Given the description of an element on the screen output the (x, y) to click on. 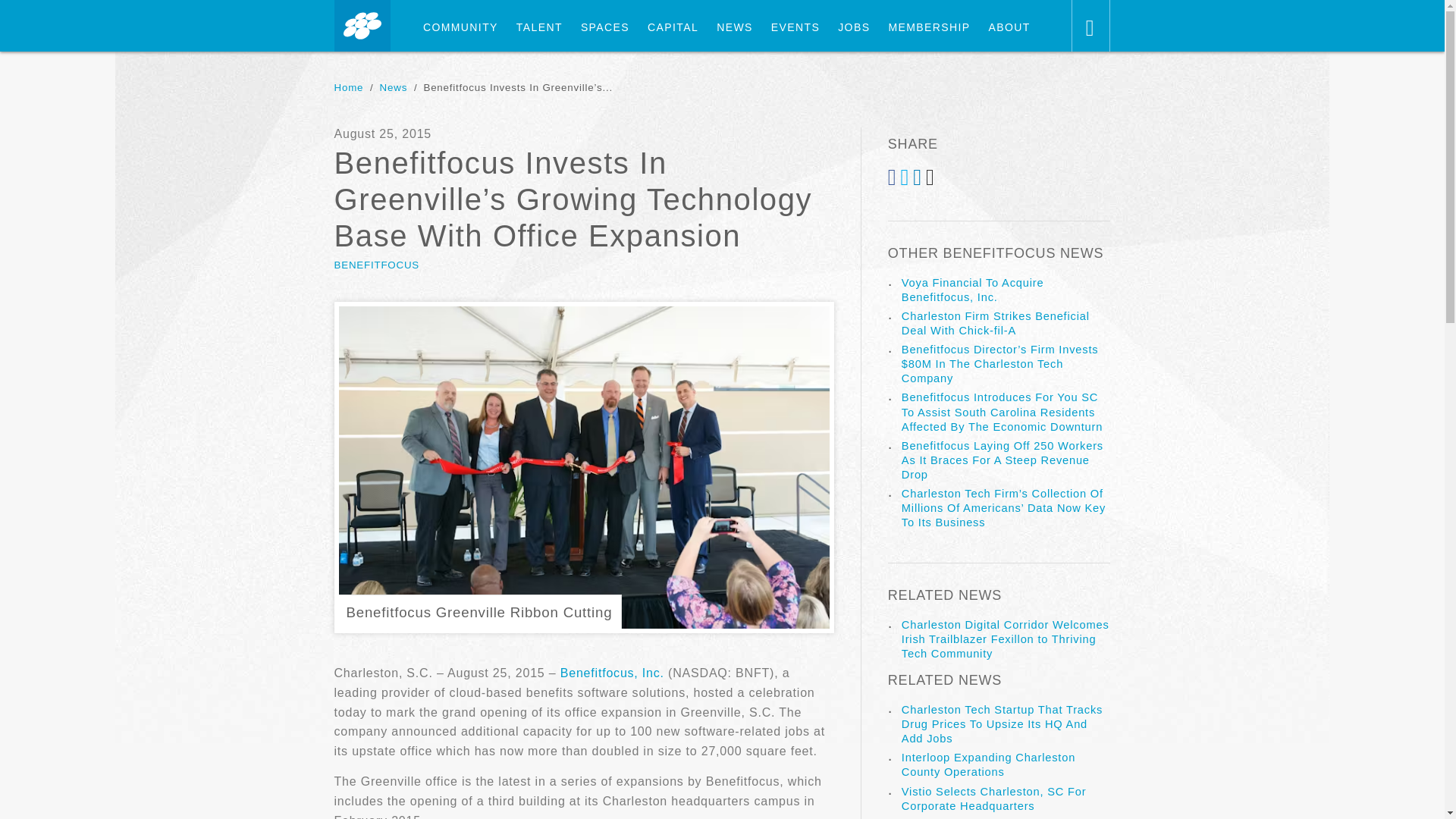
Interloop Expanding Charleston County Operations (988, 764)
CAPITAL (672, 27)
Vistio Selects Charleston, SC For Corporate Headquarters (993, 798)
COMMUNITY (460, 27)
News (393, 87)
Voya Financial To Acquire Benefitfocus, Inc. (972, 289)
Home (347, 87)
NEWS (734, 27)
ABOUT (1009, 27)
SPACES (604, 27)
MEMBERSHIP (928, 27)
Benefitfocus, Inc. (614, 672)
TALENT (539, 27)
